Given the description of an element on the screen output the (x, y) to click on. 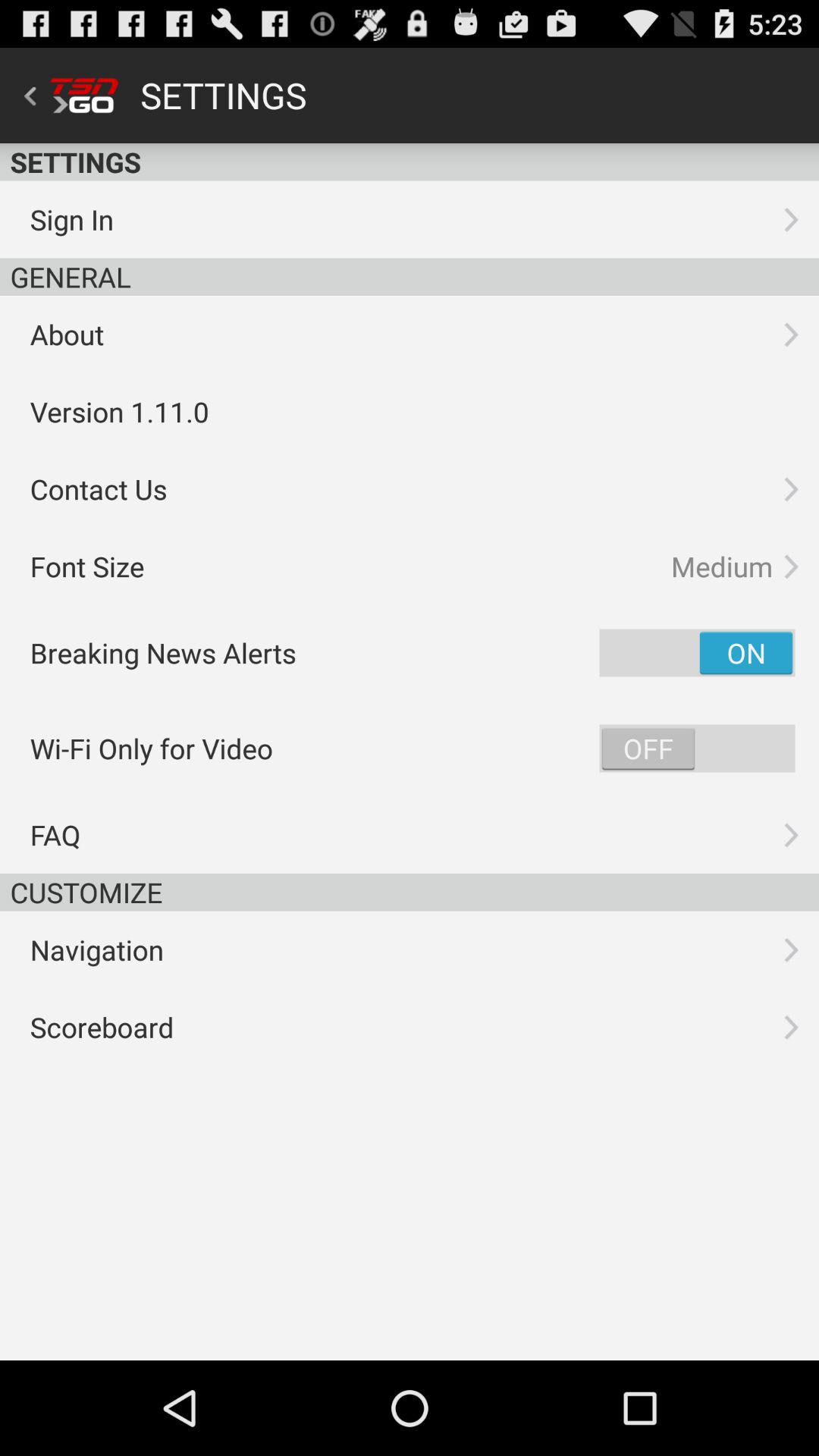
toggle breaking news (697, 652)
